Given the description of an element on the screen output the (x, y) to click on. 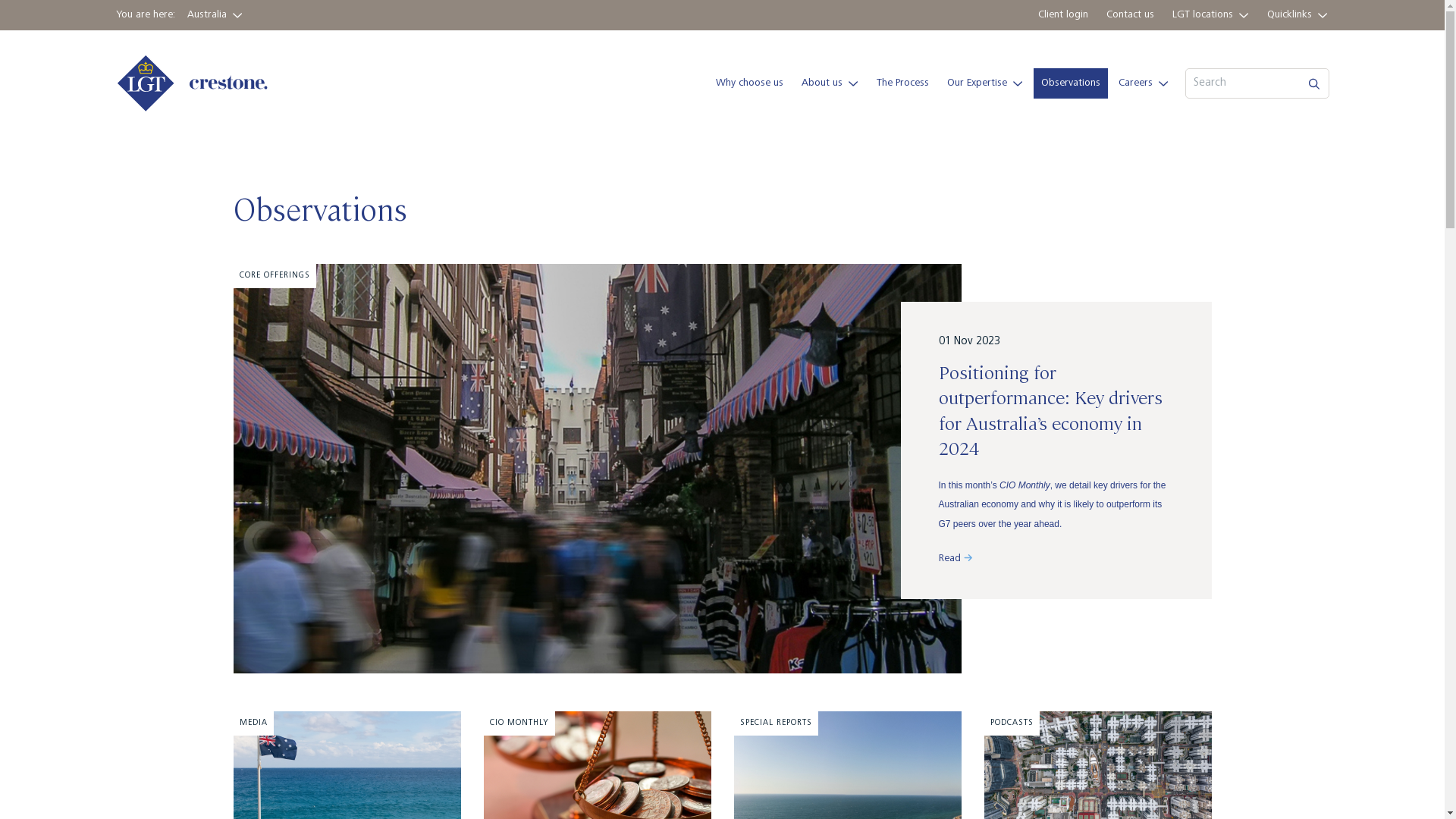
Australia Element type: text (213, 15)
Client login Element type: text (1062, 15)
Quicklinks Element type: text (1296, 15)
Contact us Element type: text (1129, 15)
Careers Element type: text (1142, 83)
Why choose us Element type: text (749, 83)
LGT locations Element type: text (1210, 15)
The Process Element type: text (902, 83)
About us Element type: text (829, 83)
Read Element type: text (955, 558)
Our Expertise Element type: text (983, 83)
Observations Element type: text (1069, 83)
